Given the description of an element on the screen output the (x, y) to click on. 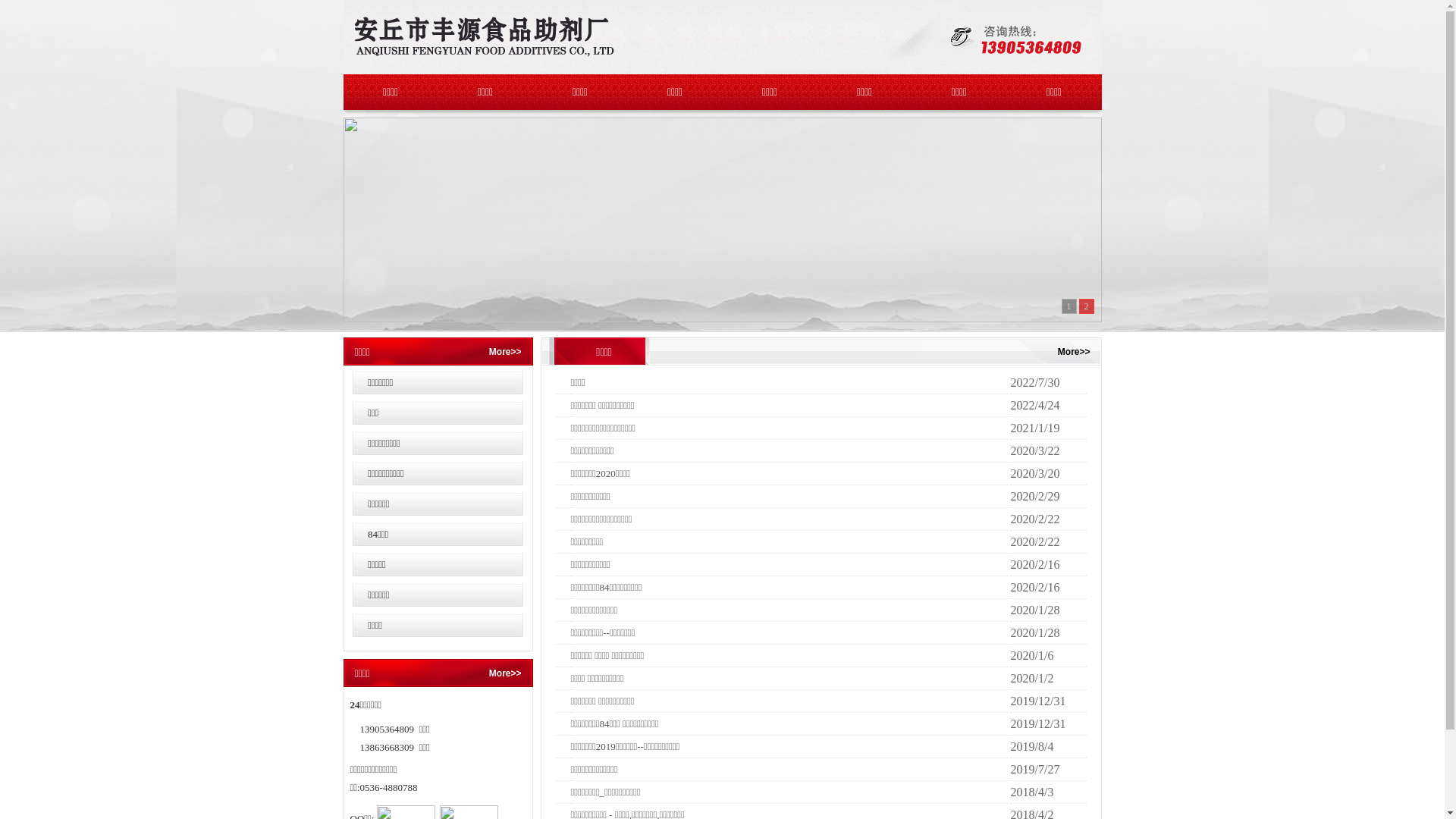
2021/1/19 Element type: text (1034, 427)
2019/8/4 Element type: text (1031, 746)
2020/2/29 Element type: text (1034, 495)
2022/4/24 Element type: text (1034, 404)
2020/2/22 Element type: text (1034, 541)
2019/7/27 Element type: text (1034, 768)
2020/1/28 Element type: text (1034, 632)
2022/7/30 Element type: text (1034, 382)
2020/2/16 Element type: text (1034, 564)
2020/3/22 Element type: text (1034, 450)
2019/12/31 Element type: text (1037, 700)
More>> Element type: text (505, 672)
2020/2/16 Element type: text (1034, 586)
2020/1/6 Element type: text (1031, 655)
2020/3/20 Element type: text (1034, 473)
2018/4/3 Element type: text (1031, 791)
2019/12/31 Element type: text (1037, 723)
2020/1/2 Element type: text (1031, 677)
2020/1/28 Element type: text (1034, 609)
2020/2/22 Element type: text (1034, 518)
More>> Element type: text (505, 350)
More>> Element type: text (1073, 350)
